Given the description of an element on the screen output the (x, y) to click on. 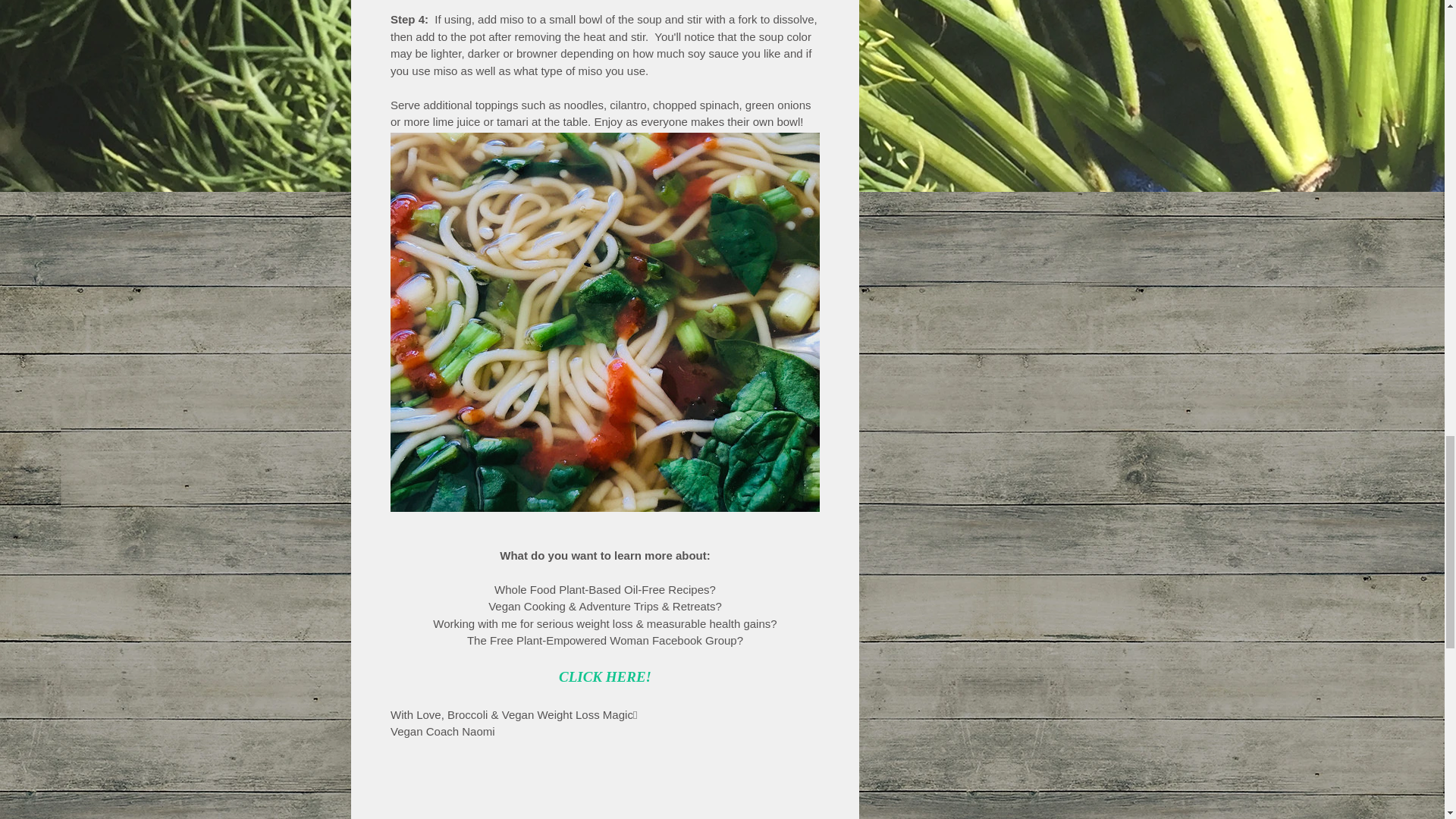
CLICK HERE! (604, 676)
